Given the description of an element on the screen output the (x, y) to click on. 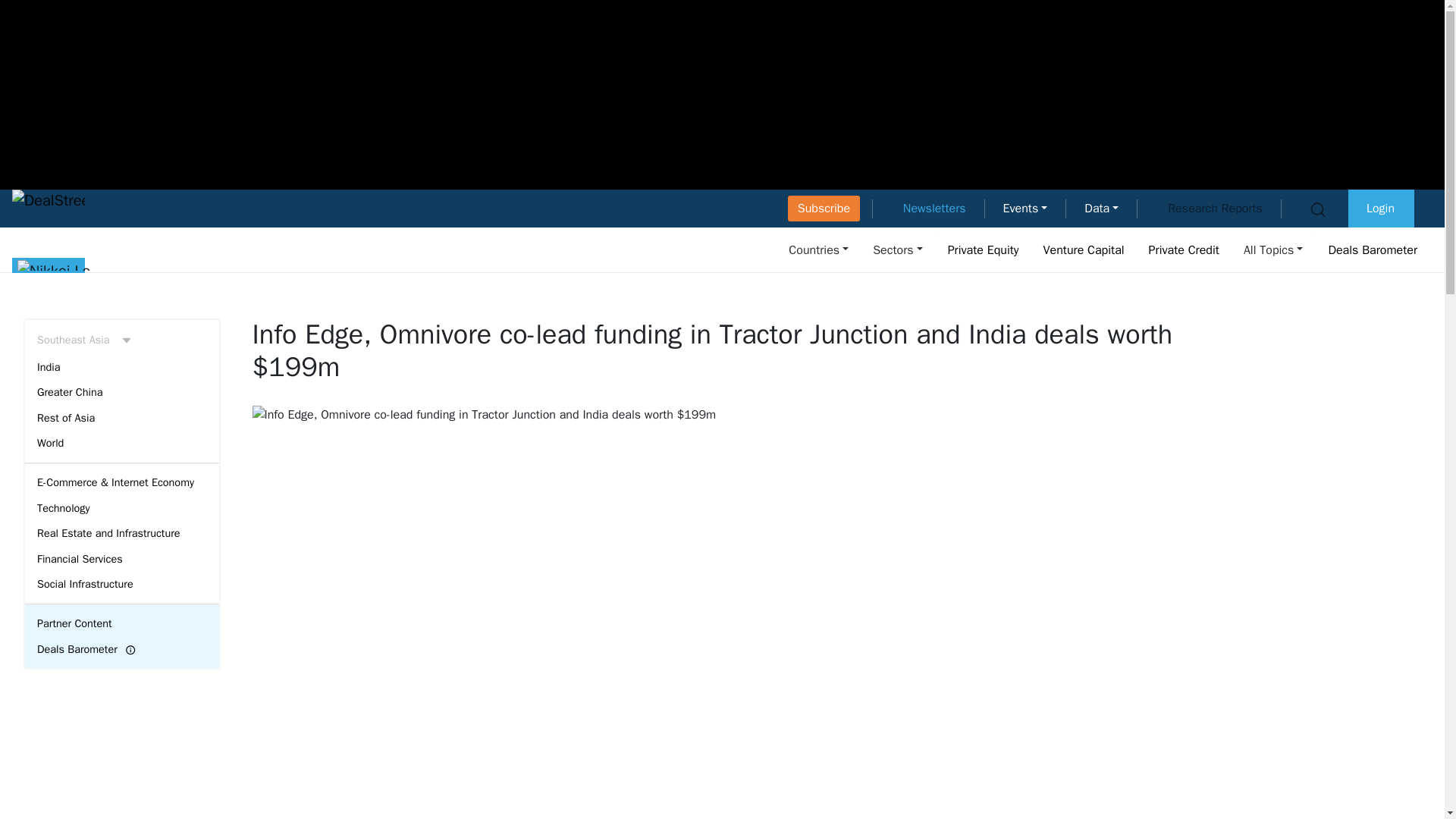
Subscribe (823, 208)
Newsletters (934, 208)
Greater China (121, 392)
Sectors (897, 250)
Private Equity (983, 250)
Login (1379, 208)
India (121, 367)
Countries (818, 250)
All Topics (1272, 250)
Data (1101, 208)
